Given the description of an element on the screen output the (x, y) to click on. 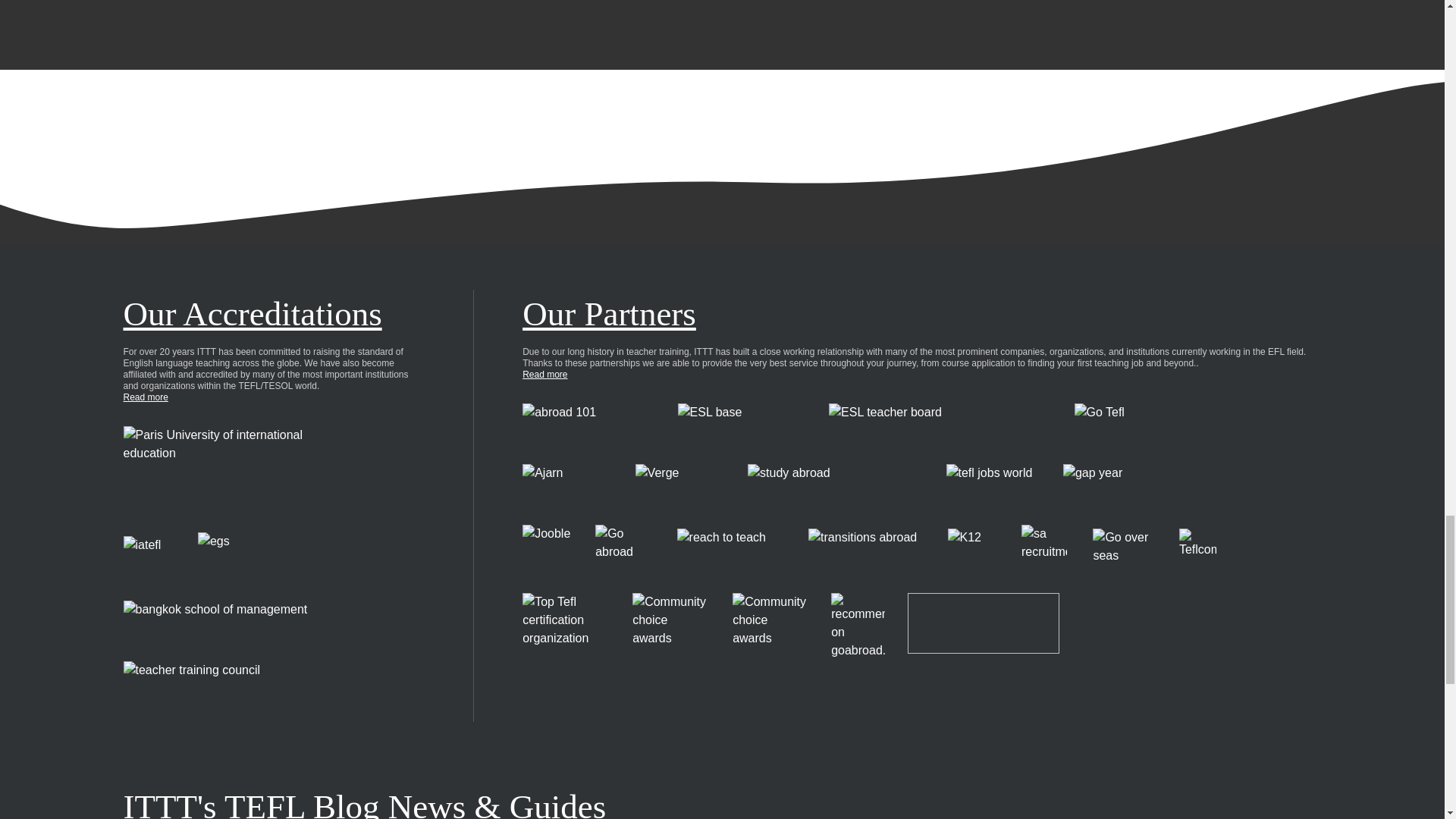
Paris University of international education (228, 467)
